Given the description of an element on the screen output the (x, y) to click on. 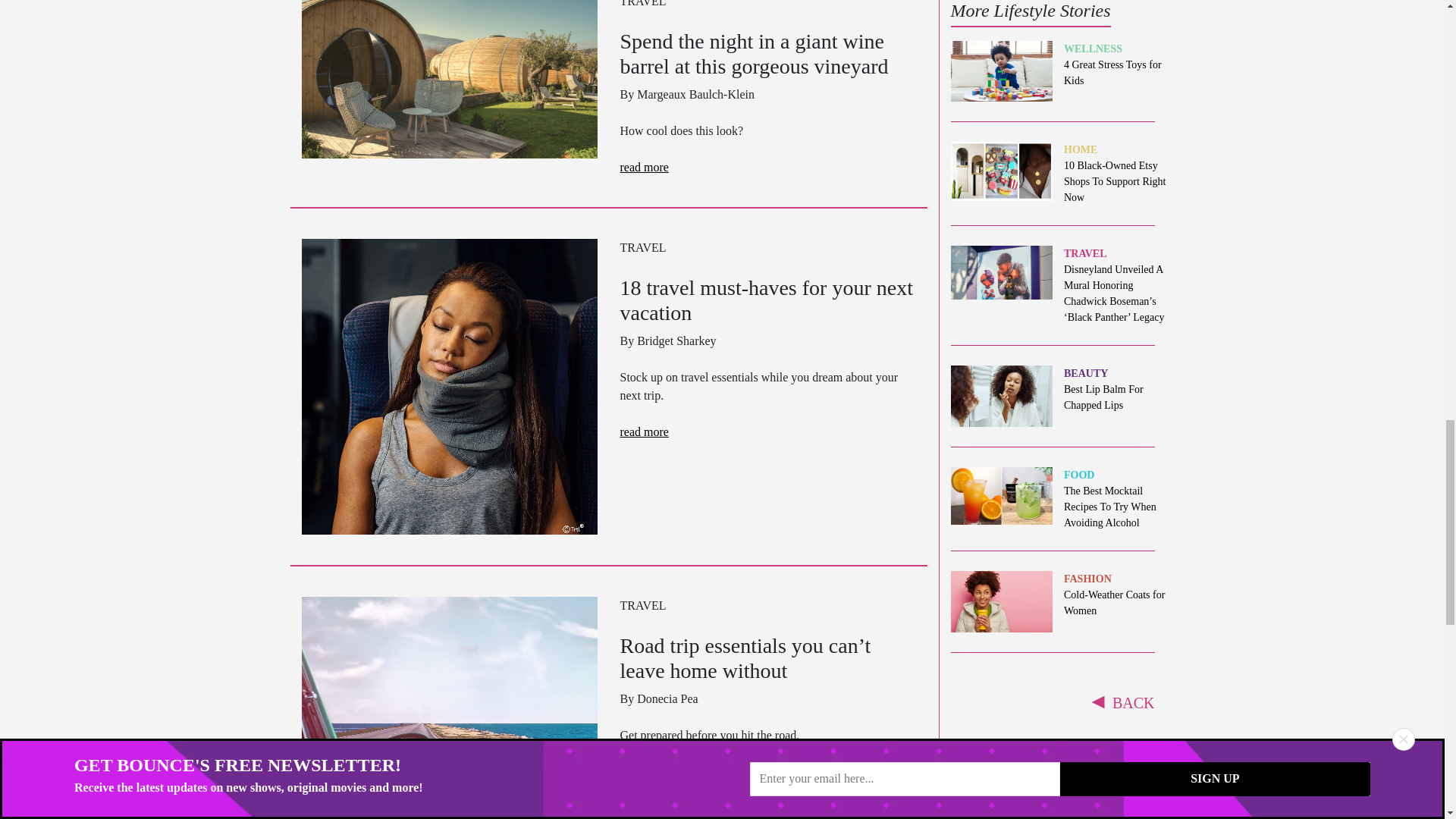
read more (644, 431)
read more (644, 166)
read more (644, 771)
